Given the description of an element on the screen output the (x, y) to click on. 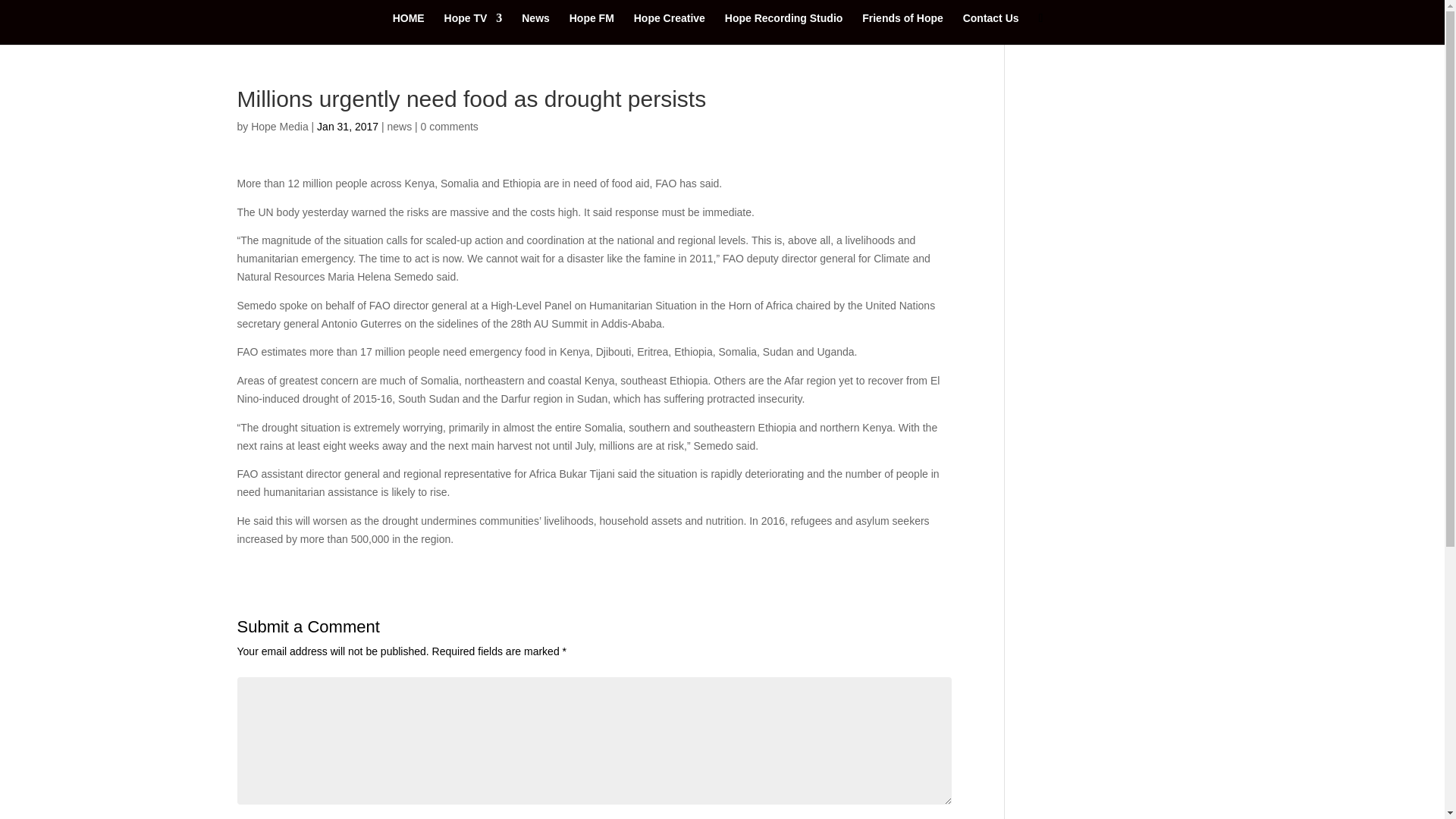
Friends of Hope (902, 29)
0 comments (449, 126)
Contact Us (990, 29)
Posts by Hope Media (279, 126)
Hope Recording Studio (784, 29)
Hope FM (591, 29)
Hope Media (279, 126)
news (399, 126)
Hope TV (473, 29)
Hope Creative (668, 29)
HOME (409, 29)
